Given the description of an element on the screen output the (x, y) to click on. 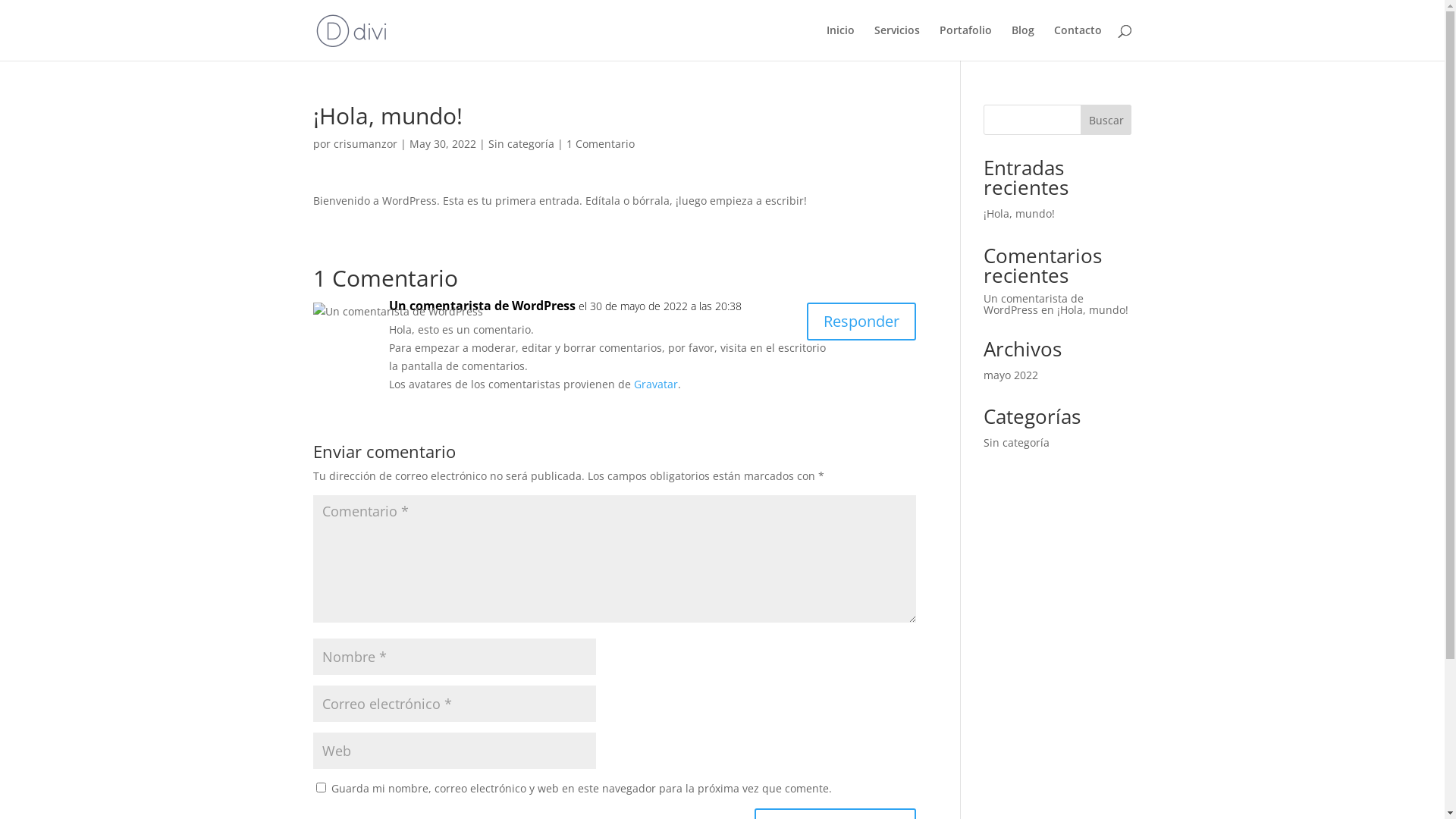
Un comentarista de WordPress Element type: text (1033, 303)
Gravatar Element type: text (655, 383)
Servicios Element type: text (896, 42)
Buscar Element type: text (1106, 119)
Blog Element type: text (1022, 42)
1 Comentario Element type: text (599, 143)
Inicio Element type: text (840, 42)
Portafolio Element type: text (964, 42)
Responder Element type: text (861, 321)
crisumanzor Element type: text (365, 143)
Contacto Element type: text (1077, 42)
Un comentarista de WordPress Element type: text (481, 306)
mayo 2022 Element type: text (1010, 374)
